Given the description of an element on the screen output the (x, y) to click on. 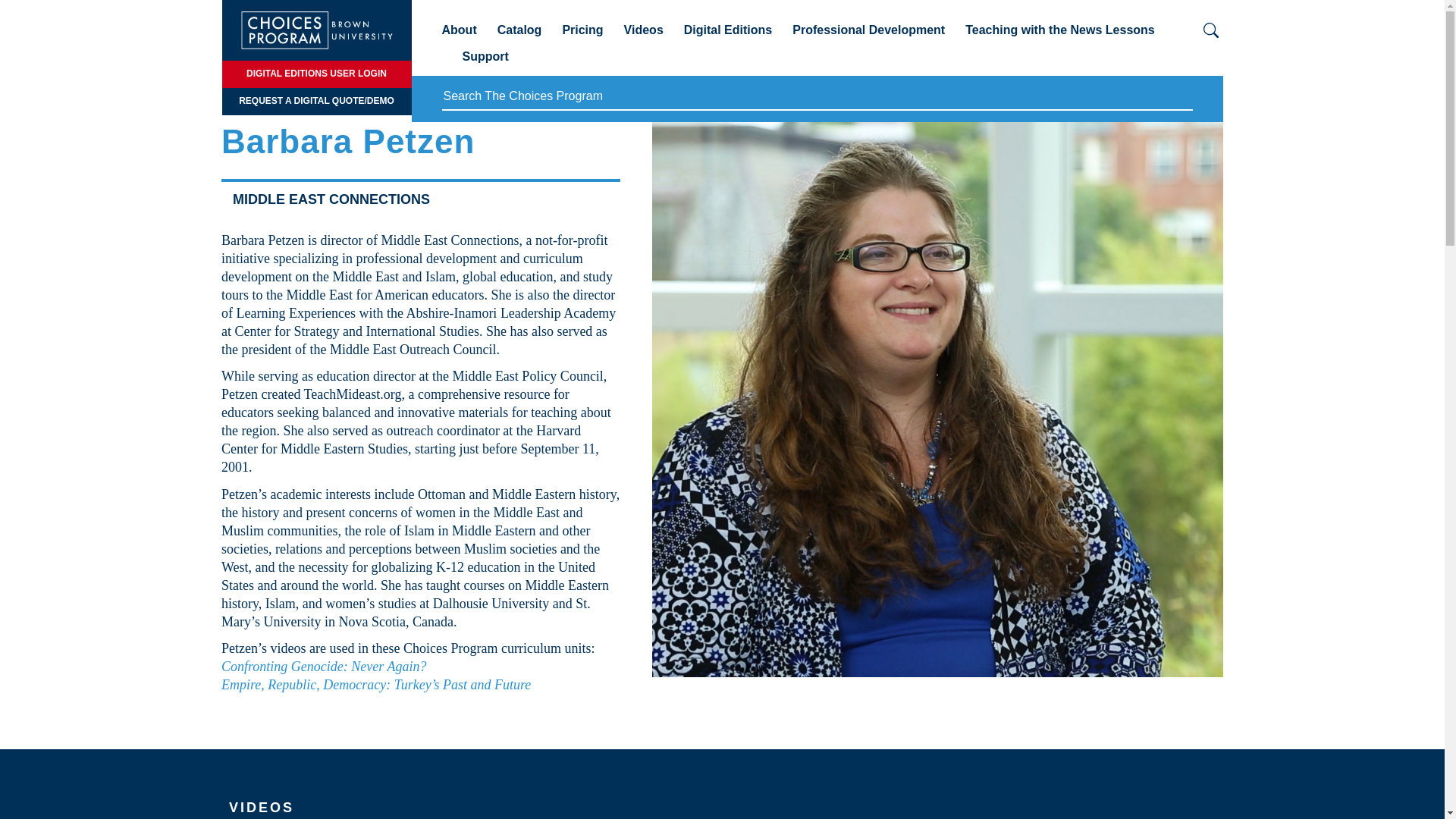
Digital Editions (727, 35)
Pricing (582, 35)
Catalog (519, 35)
Videos (643, 35)
About (458, 35)
DIGITAL EDITIONS USER LOGIN (315, 73)
search here (816, 96)
